Given the description of an element on the screen output the (x, y) to click on. 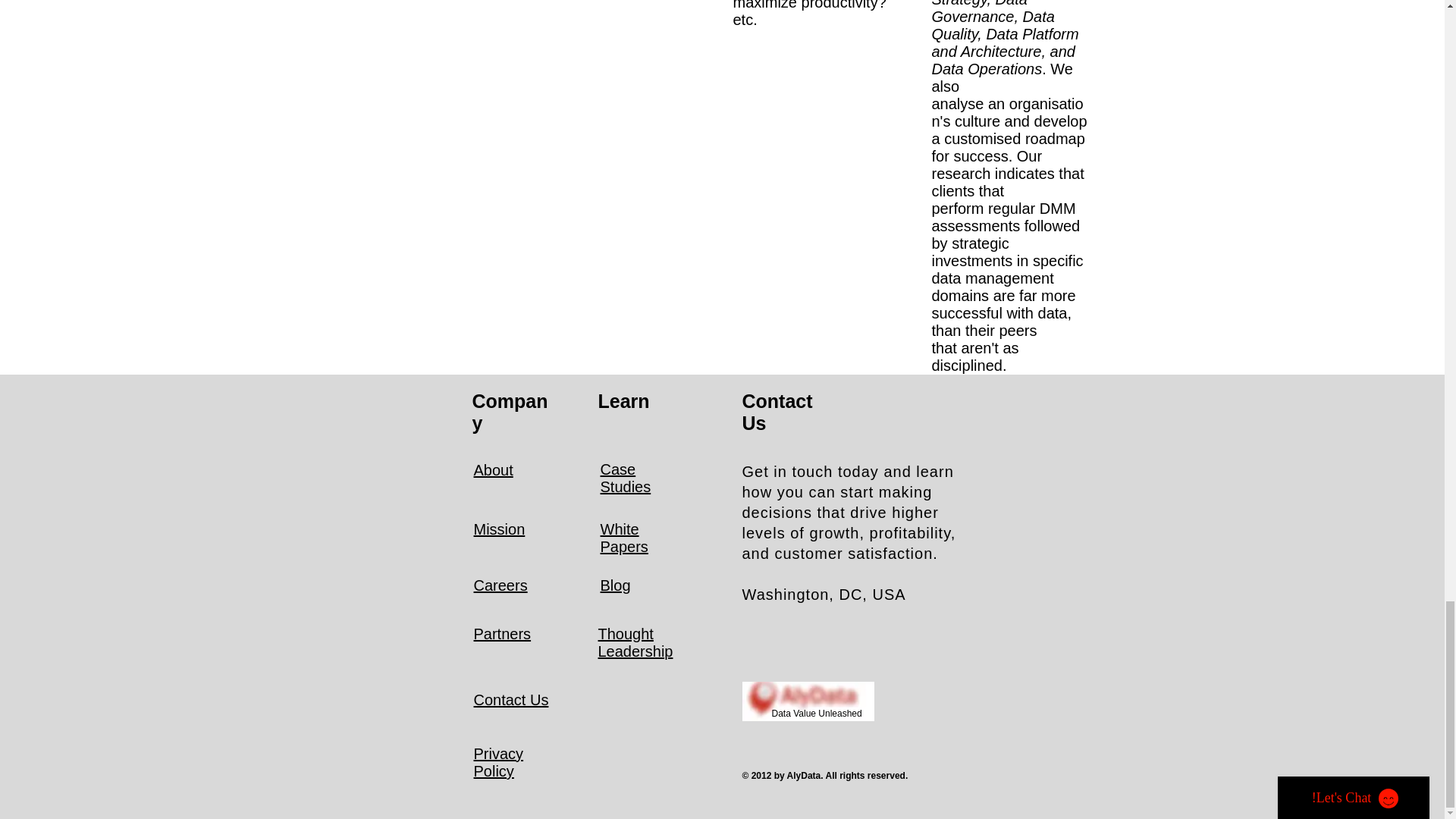
About (492, 469)
Mission (498, 528)
Careers (500, 585)
Blog (614, 585)
Thought Leadership (634, 642)
Contact Us (510, 699)
Partners (502, 633)
Case Studies (624, 478)
External YouTube (594, 157)
White Papers (623, 537)
Privacy Policy (497, 762)
